Given the description of an element on the screen output the (x, y) to click on. 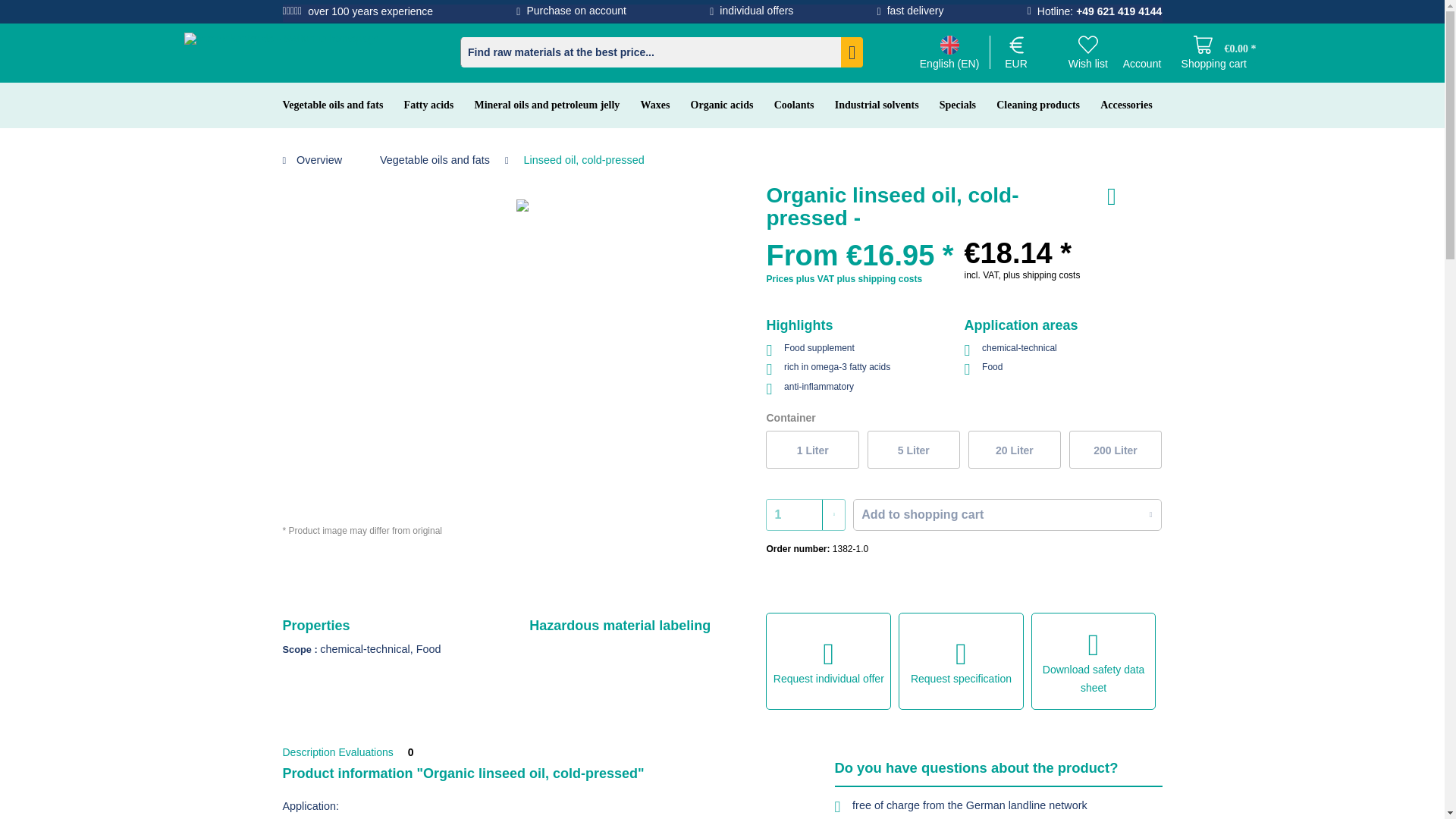
Cleaning products (1042, 104)
Wish list (1088, 47)
Accessories (1130, 104)
chemiekontor.de - Switch to homepage (280, 51)
Cleaning products (1042, 104)
Organic acids (726, 104)
Waxes (659, 104)
Organic acids (726, 104)
Fatty acids (432, 104)
Accessories (1130, 104)
